Given the description of an element on the screen output the (x, y) to click on. 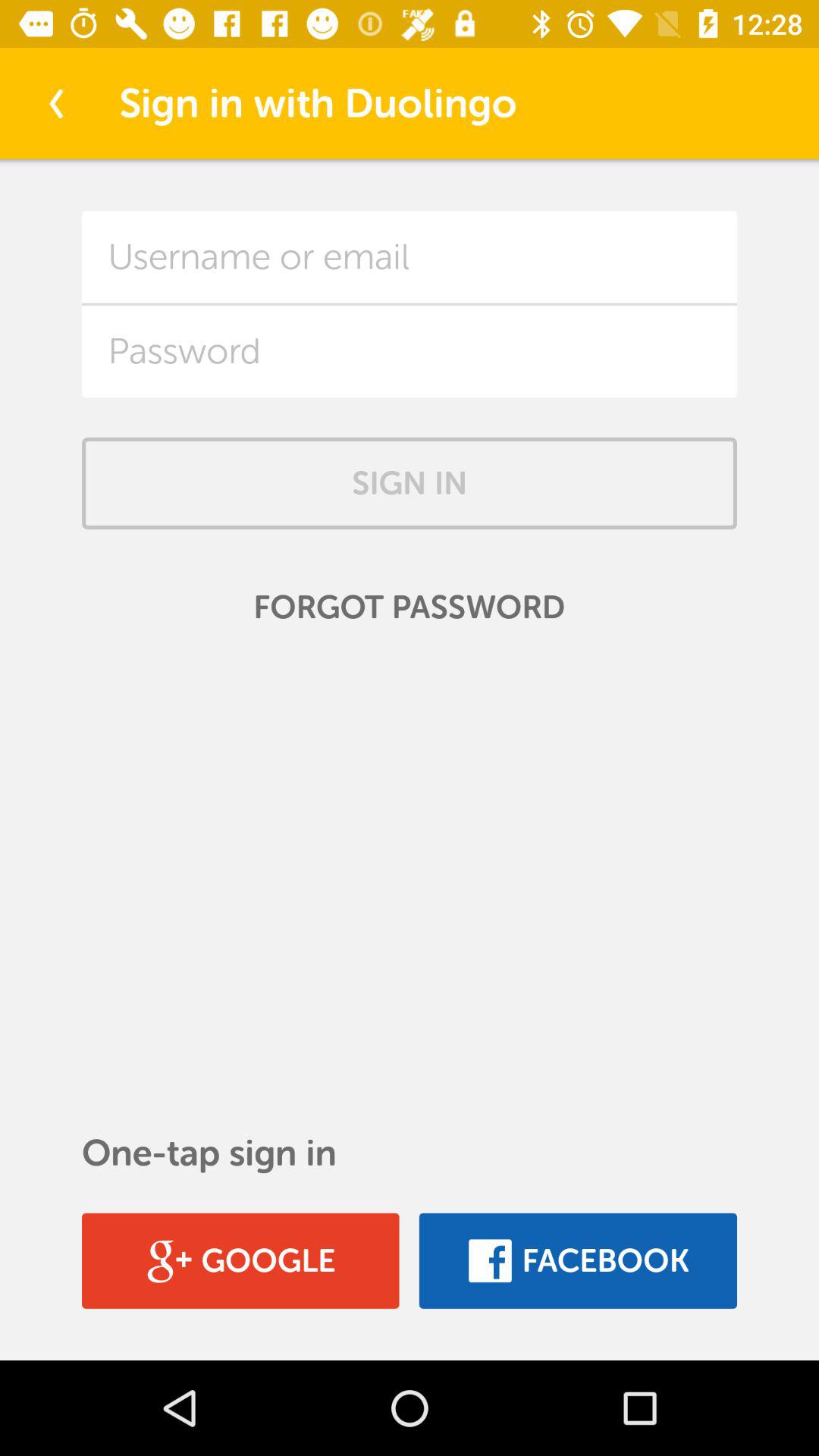
enter login password (409, 351)
